Given the description of an element on the screen output the (x, y) to click on. 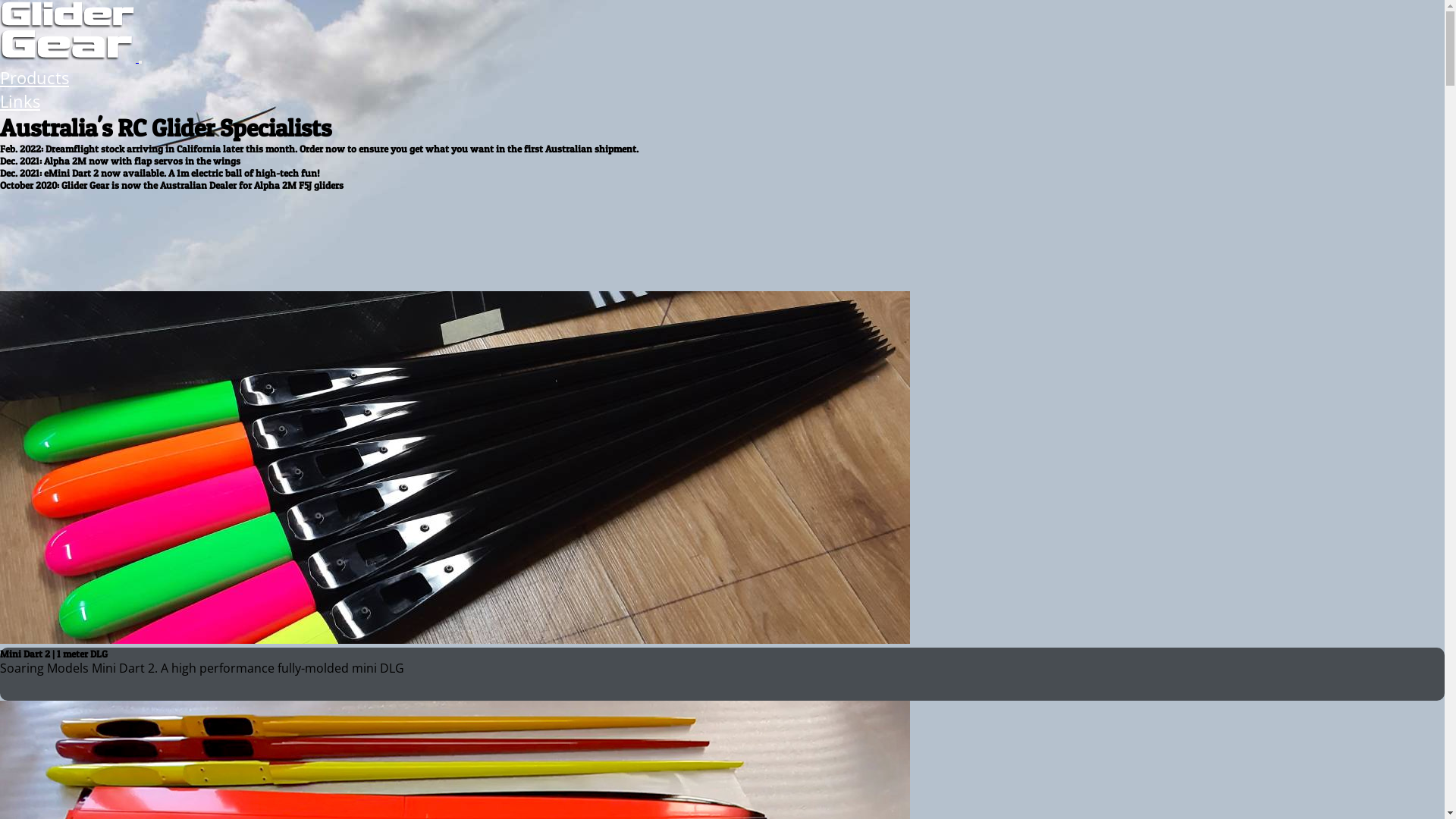
Links Element type: text (20, 100)
Products Element type: text (34, 77)
